Given the description of an element on the screen output the (x, y) to click on. 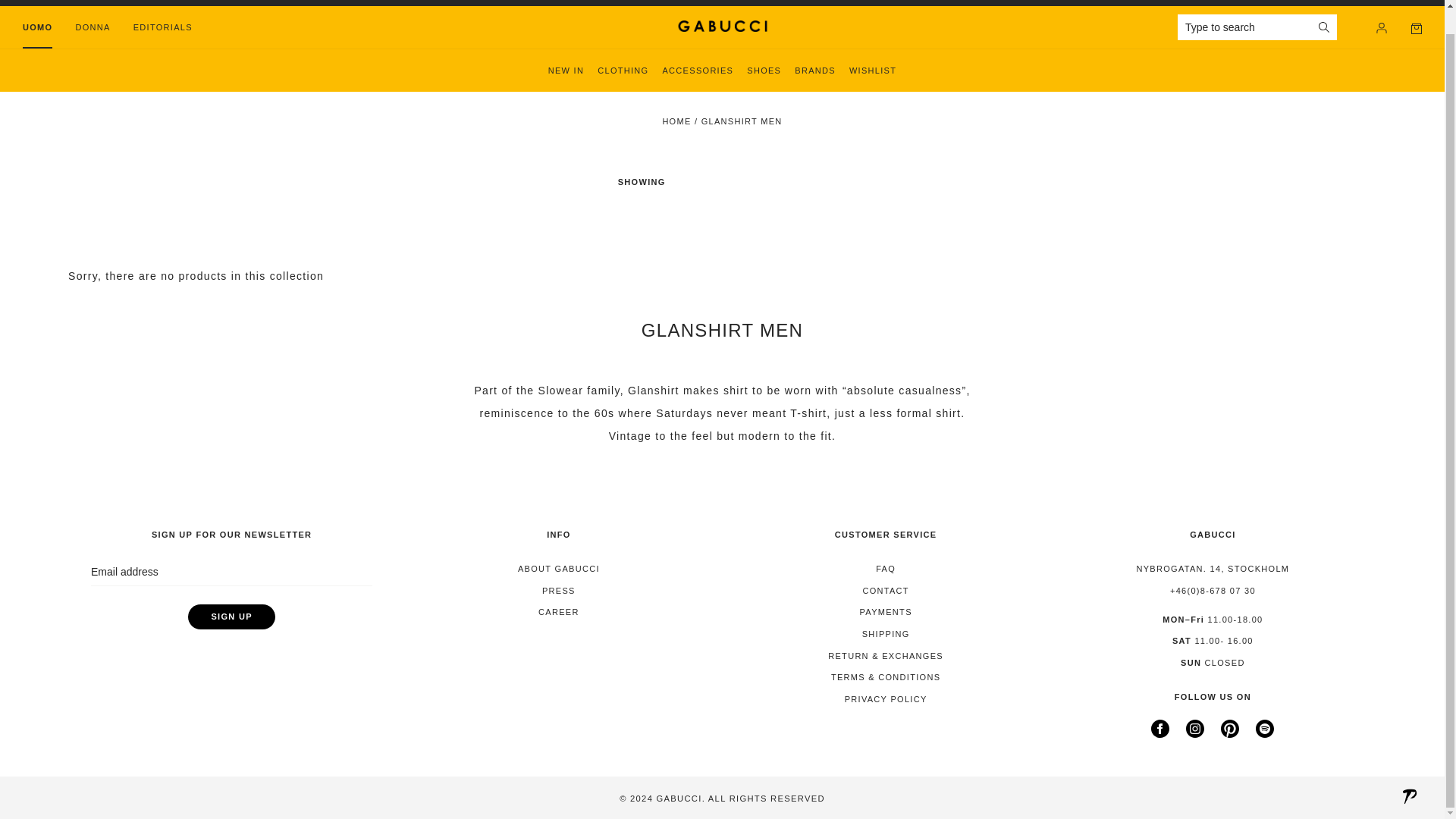
Gabucci on Pinterest (1230, 734)
Search (1324, 27)
EDITORIALS (162, 26)
Gabucci on Facebook (1160, 734)
Home (676, 121)
CLOTHING (621, 70)
ACCESSORIES (697, 70)
Gabucci on Instagram (1195, 734)
